Given the description of an element on the screen output the (x, y) to click on. 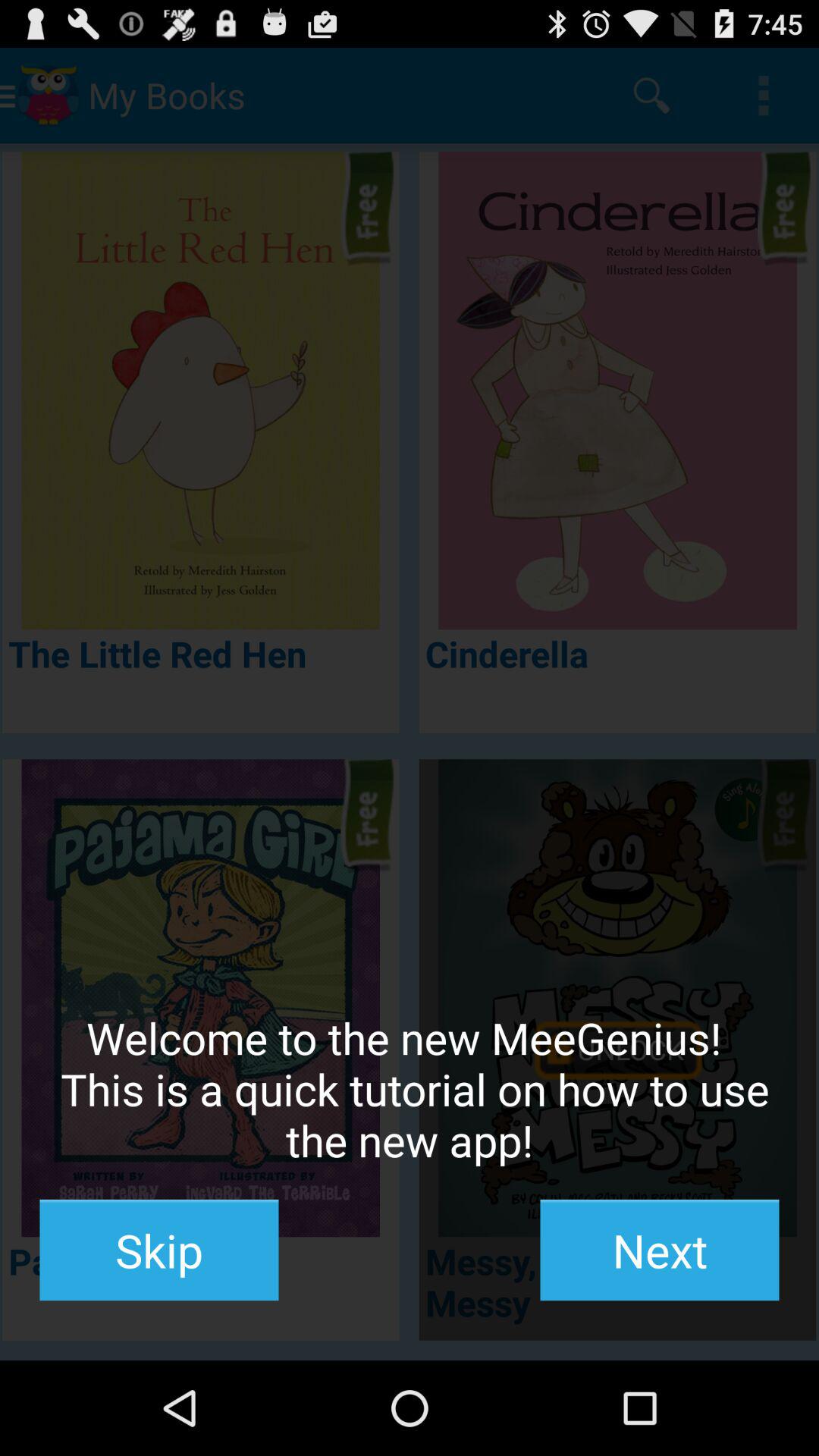
choose app below the welcome to the app (659, 1249)
